Given the description of an element on the screen output the (x, y) to click on. 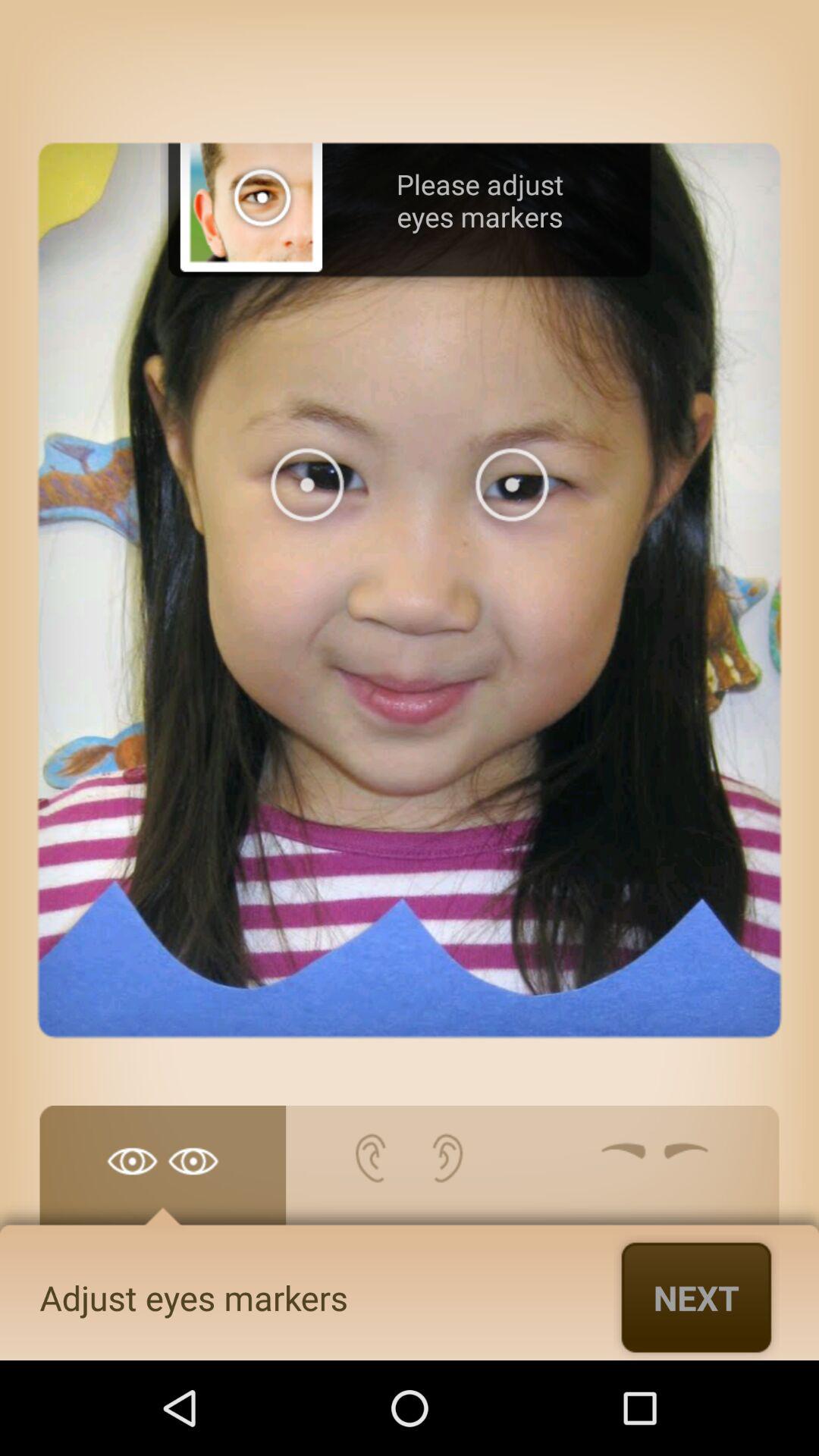
click the app to the right of adjust eyes markers item (696, 1297)
